Given the description of an element on the screen output the (x, y) to click on. 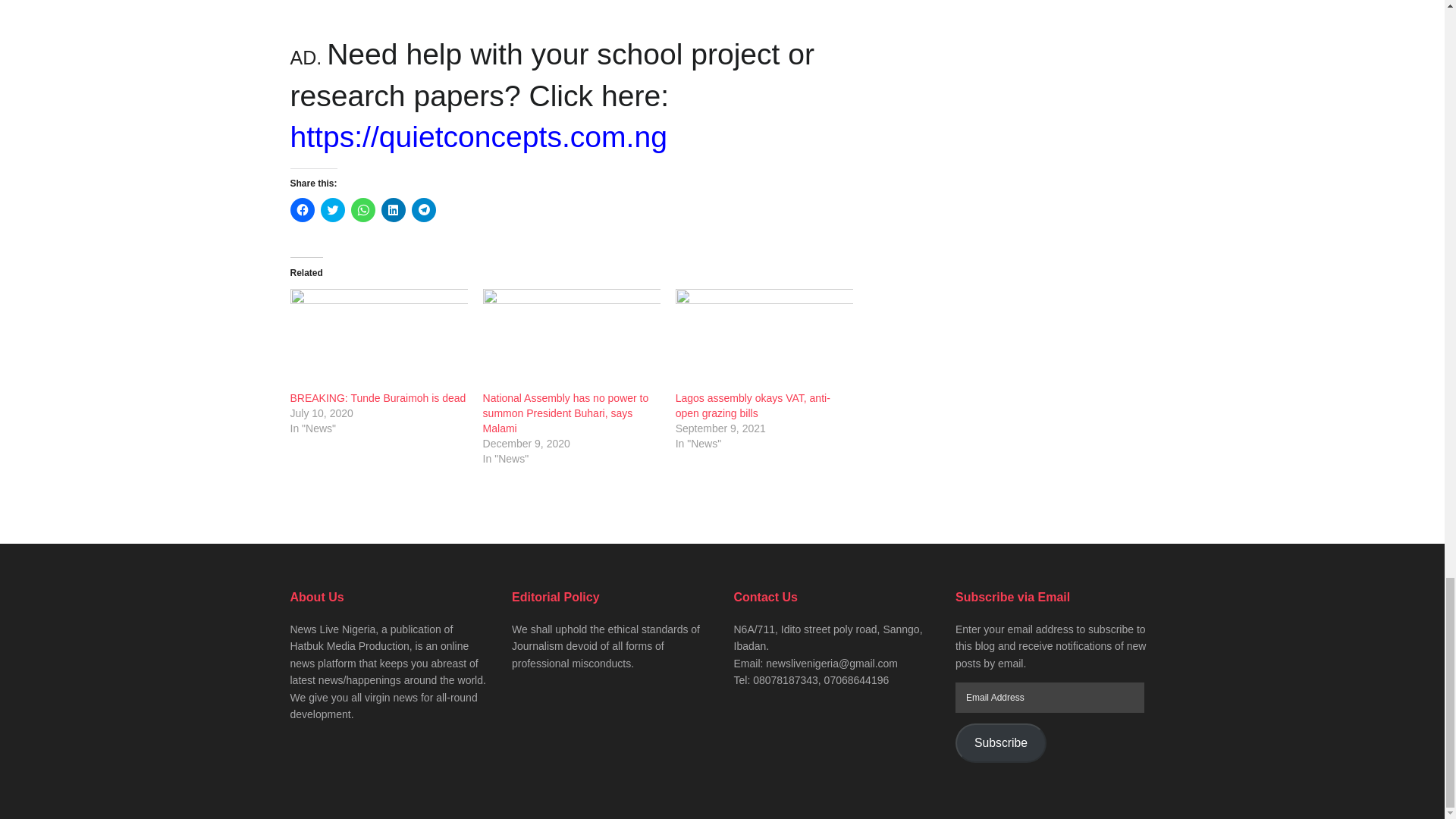
Lagos assembly okays VAT, anti-open grazing bills (764, 339)
Click to share on WhatsApp (362, 209)
Click to share on Facebook (301, 209)
Click to share on Telegram (422, 209)
BREAKING: Tunde Buraimoh is dead (377, 398)
Lagos assembly okays VAT, anti-open grazing bills (752, 405)
Click to share on Twitter (331, 209)
Click to share on LinkedIn (392, 209)
